Given the description of an element on the screen output the (x, y) to click on. 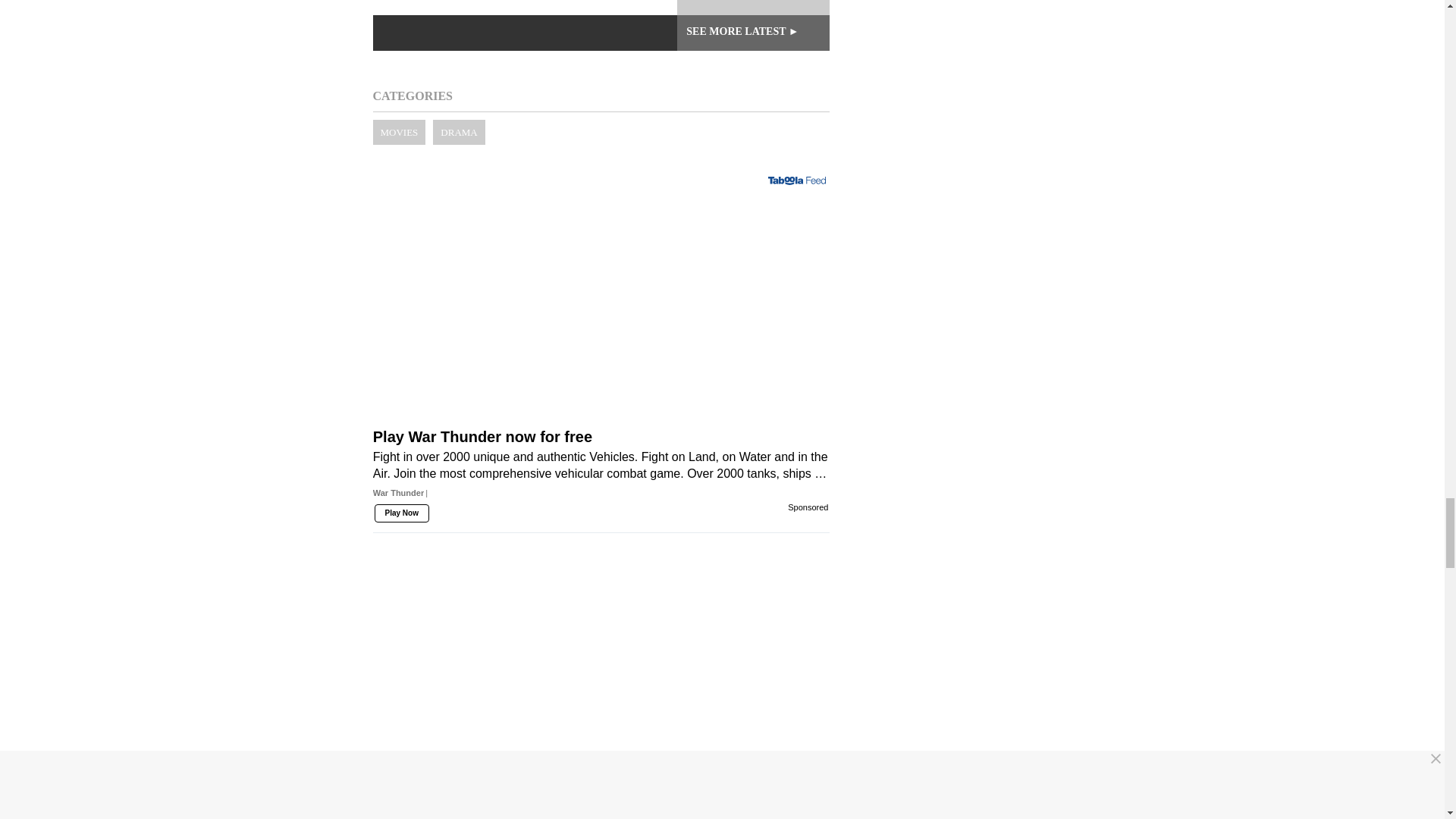
Play War Thunder now for free (600, 331)
Play War Thunder now for free (600, 491)
